Given the description of an element on the screen output the (x, y) to click on. 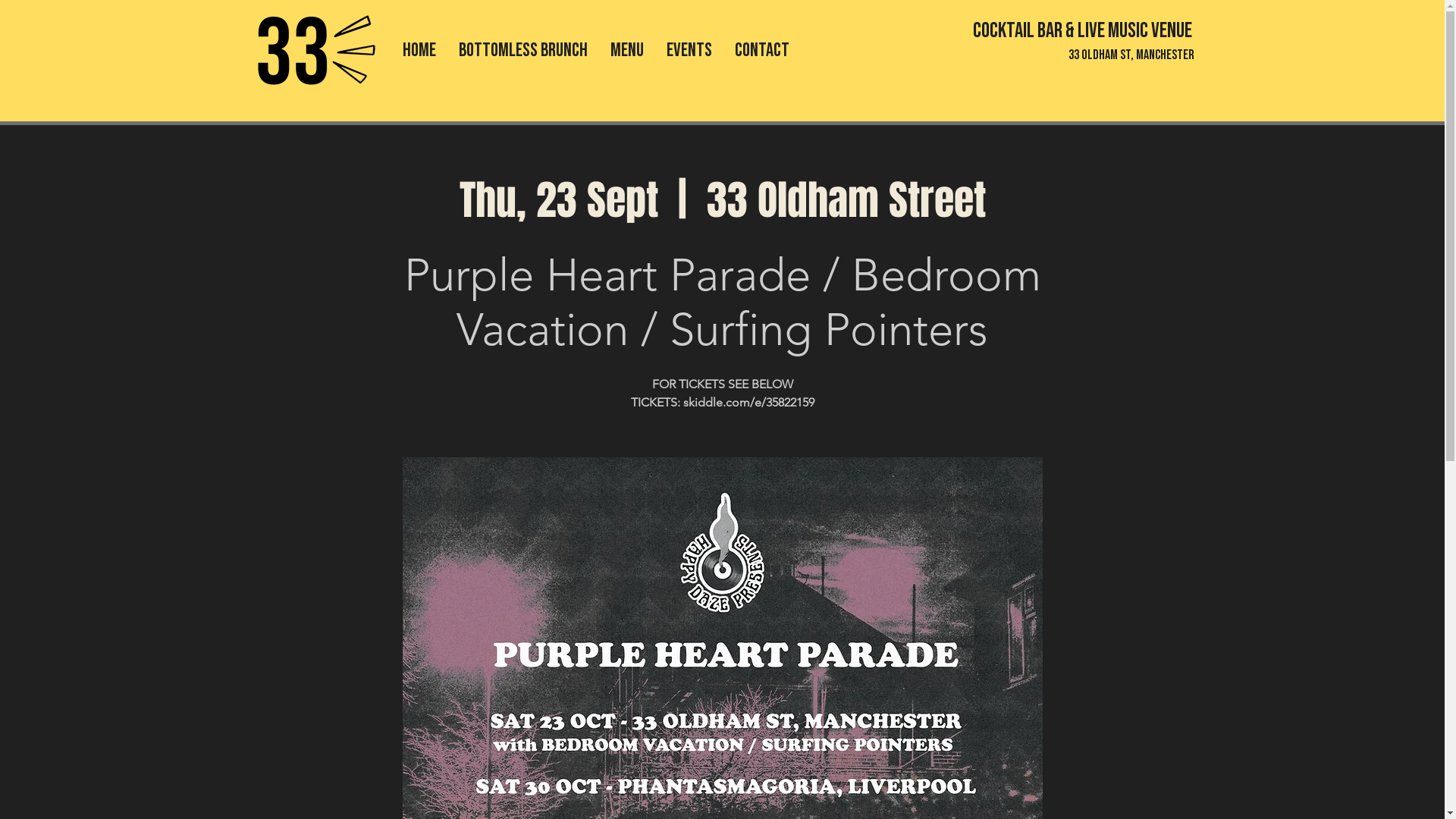
CONTACT Element type: text (761, 50)
MENU Element type: text (627, 50)
BOTTOMLESS BRUNCH Element type: text (523, 50)
HOME Element type: text (419, 50)
EVENTS Element type: text (689, 50)
